Given the description of an element on the screen output the (x, y) to click on. 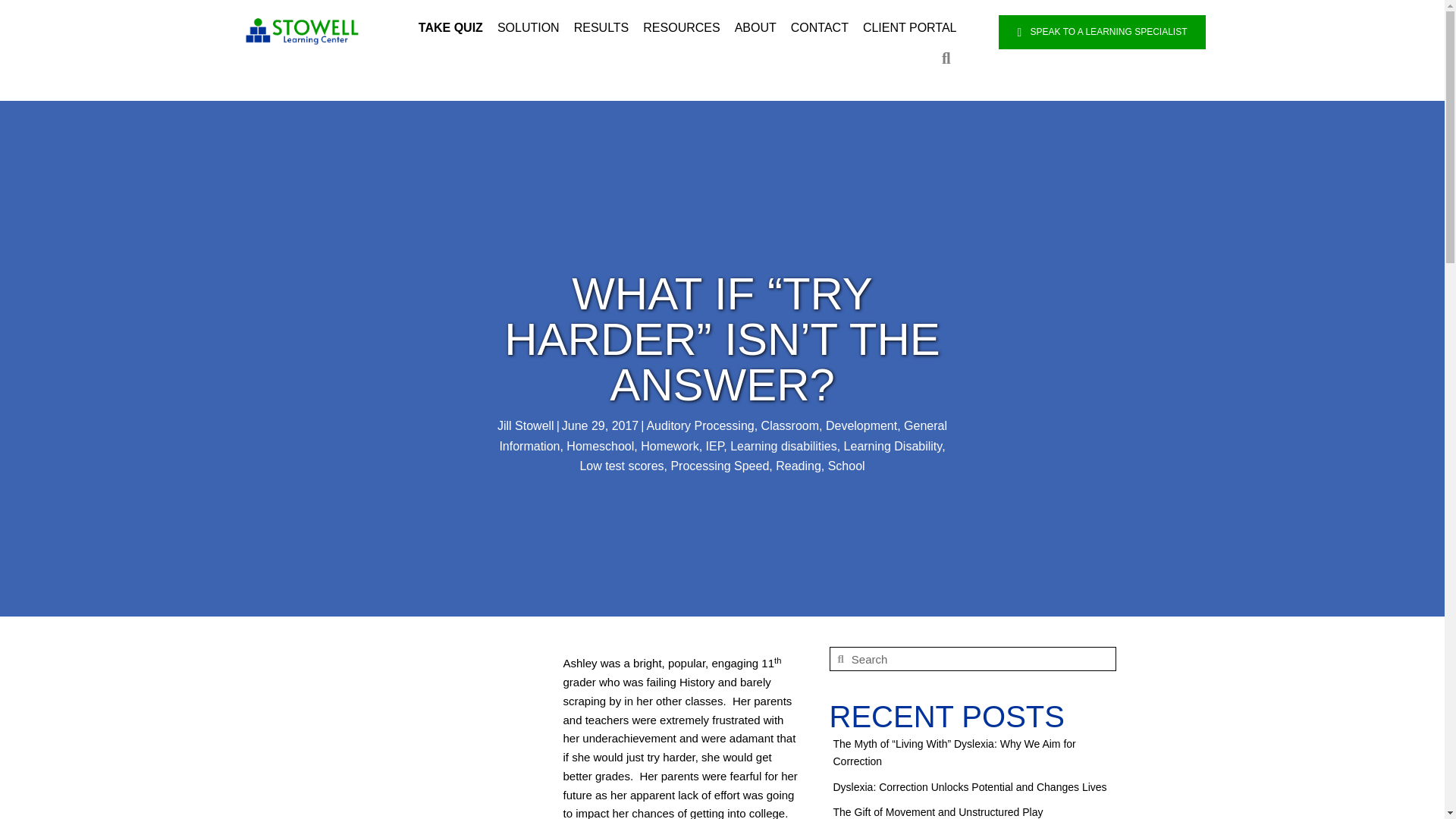
Search (979, 658)
ABOUT (755, 27)
The Gift of Movement and Unstructured Play (937, 811)
2022-SLC-LOGO-01 (302, 30)
RESULTS (601, 27)
SOLUTION (528, 27)
RESOURCES (681, 27)
Dyslexia: Correction Unlocks Potential and Changes Lives (969, 787)
TAKE QUIZ (450, 27)
